Given the description of an element on the screen output the (x, y) to click on. 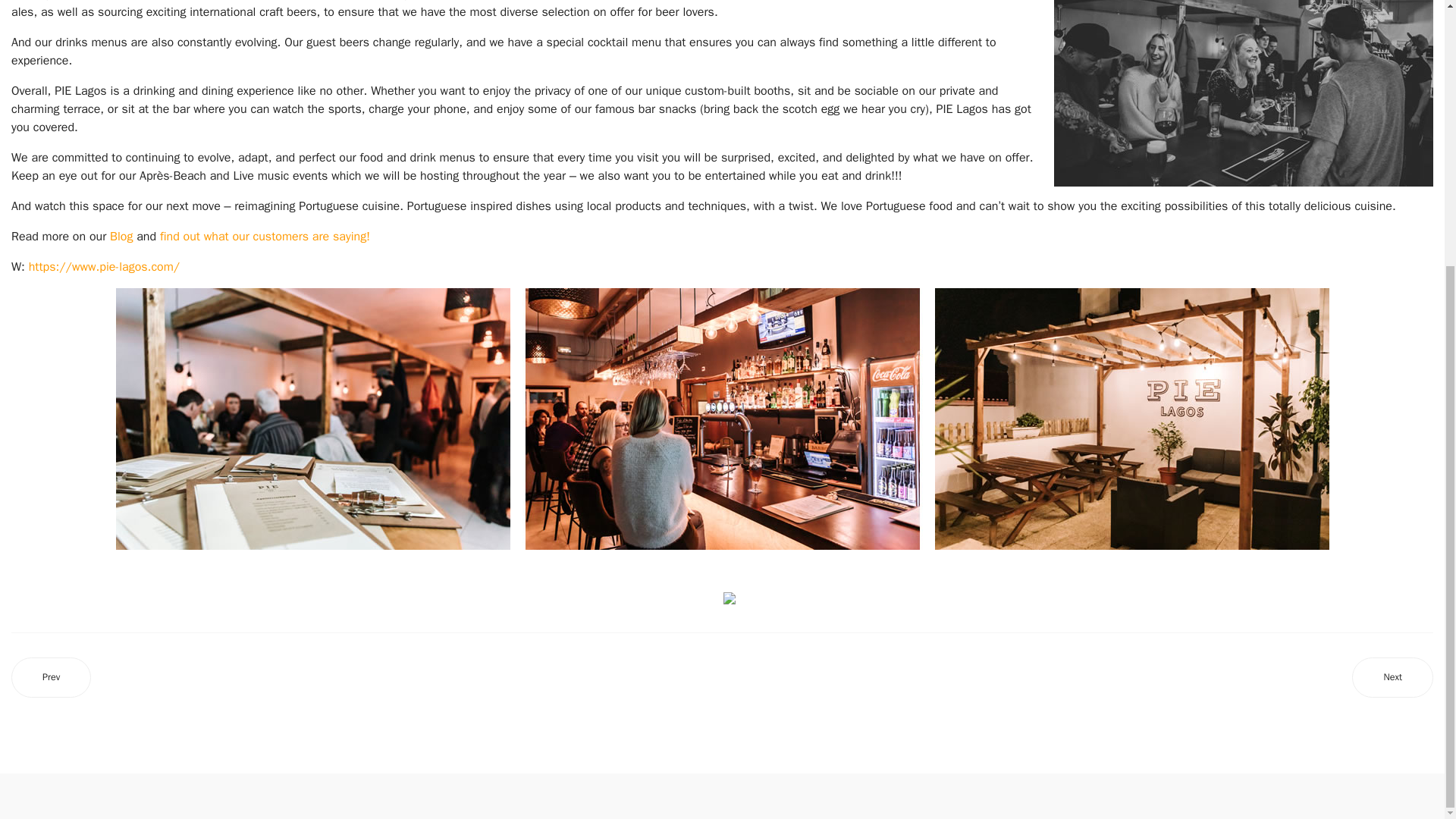
find out what our customers are saying! (264, 236)
PIE Lagos, Algarve (104, 266)
Blog Pie Lagos (121, 236)
Buy Spanish Foods in the UK at EuropaFood Online Store (50, 677)
